Given the description of an element on the screen output the (x, y) to click on. 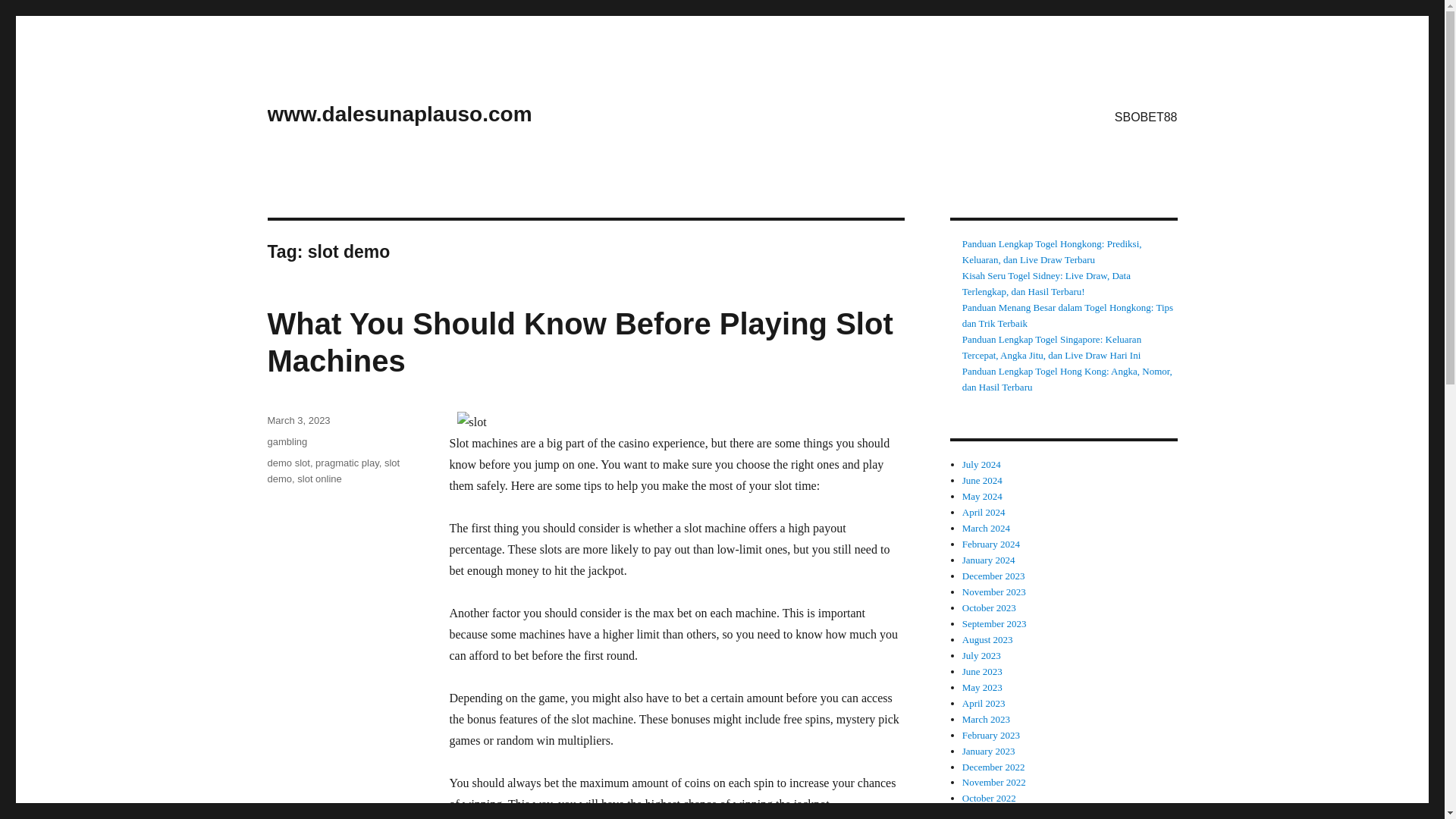
March 3, 2023 (298, 419)
July 2024 (981, 464)
February 2024 (991, 543)
February 2023 (991, 735)
December 2023 (993, 575)
March 2023 (986, 718)
slot demo (332, 470)
July 2023 (981, 655)
June 2024 (982, 480)
January 2023 (988, 750)
June 2023 (982, 671)
December 2022 (993, 767)
August 2023 (987, 639)
April 2023 (984, 703)
